Given the description of an element on the screen output the (x, y) to click on. 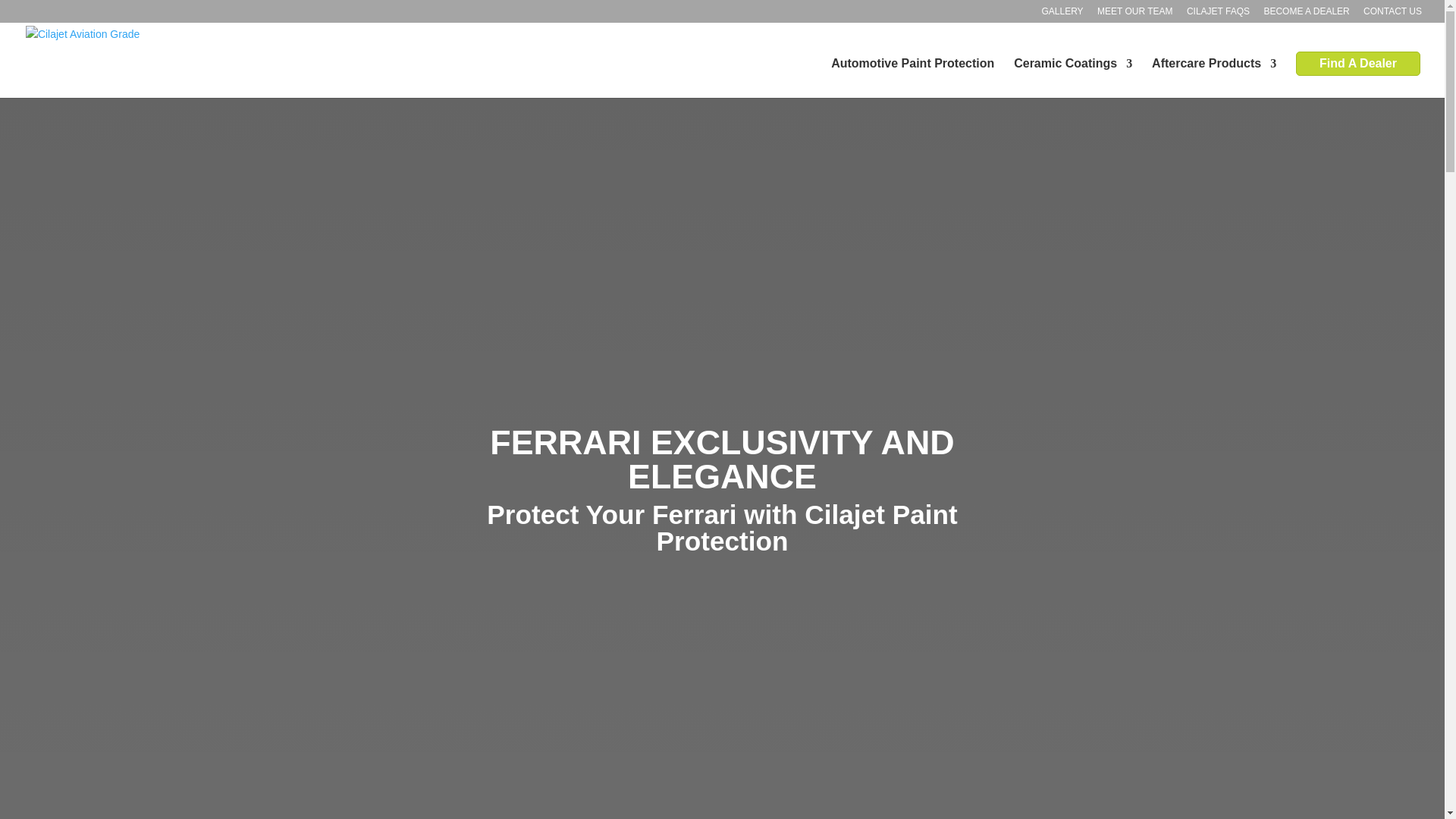
Aftercare Products (1213, 77)
Automotive Paint Protection (912, 77)
Ceramic Coatings (1072, 77)
MEET OUR TEAM (1135, 14)
CILAJET FAQS (1217, 14)
CONTACT US (1392, 14)
BECOME A DEALER (1306, 14)
GALLERY (1062, 14)
Find A Dealer (1358, 63)
